Given the description of an element on the screen output the (x, y) to click on. 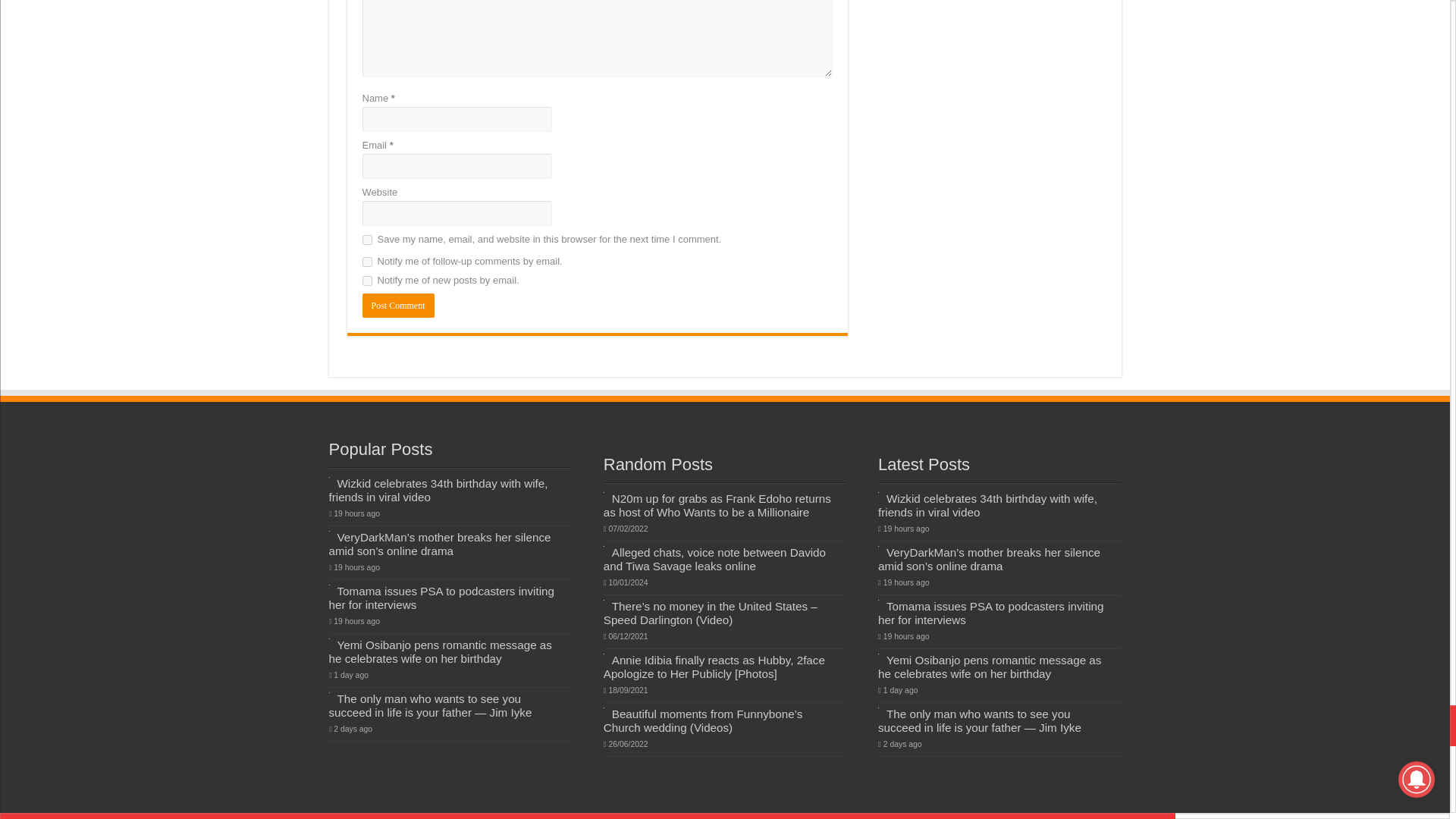
subscribe (367, 280)
yes (367, 239)
Post Comment (397, 305)
subscribe (367, 261)
